Given the description of an element on the screen output the (x, y) to click on. 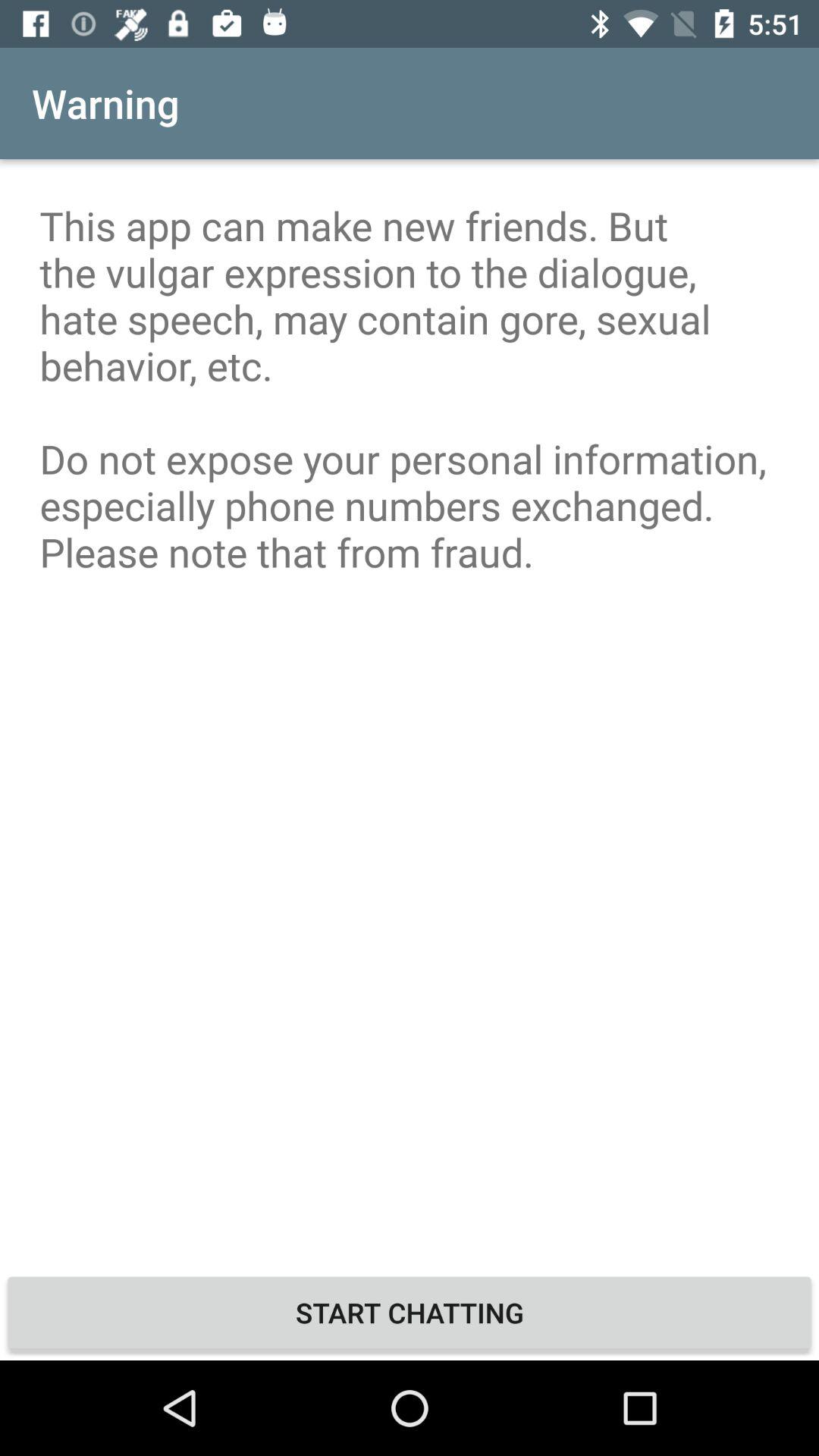
turn off icon below this app can item (409, 1312)
